Given the description of an element on the screen output the (x, y) to click on. 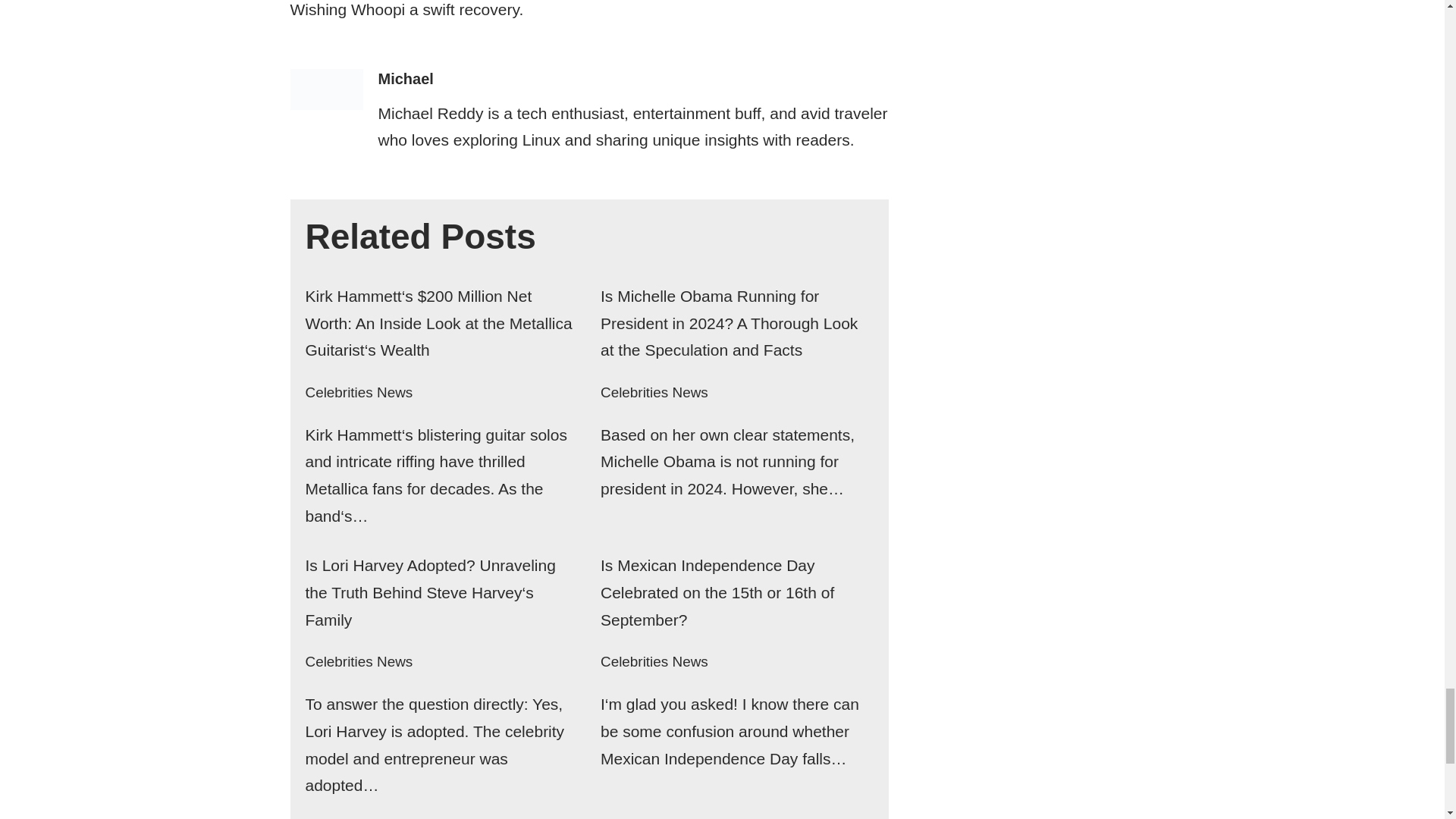
Celebrities News (358, 392)
Celebrities News (358, 661)
Celebrities News (653, 661)
Celebrities News (653, 392)
